Given the description of an element on the screen output the (x, y) to click on. 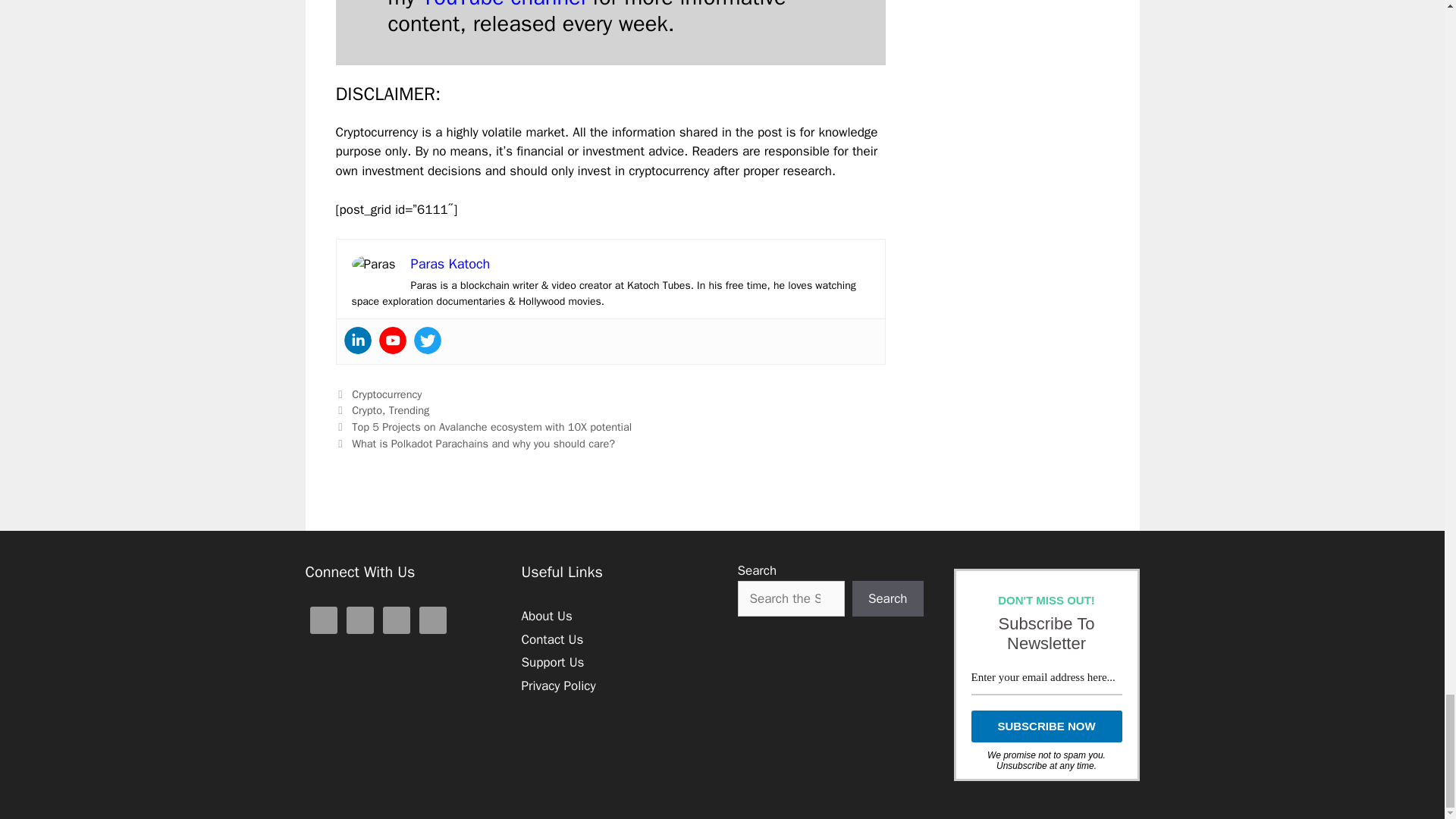
Youtube (392, 339)
Subscribe Now (1046, 726)
Linkedin (357, 339)
Twitter (427, 339)
YouTube channel (504, 5)
